Given the description of an element on the screen output the (x, y) to click on. 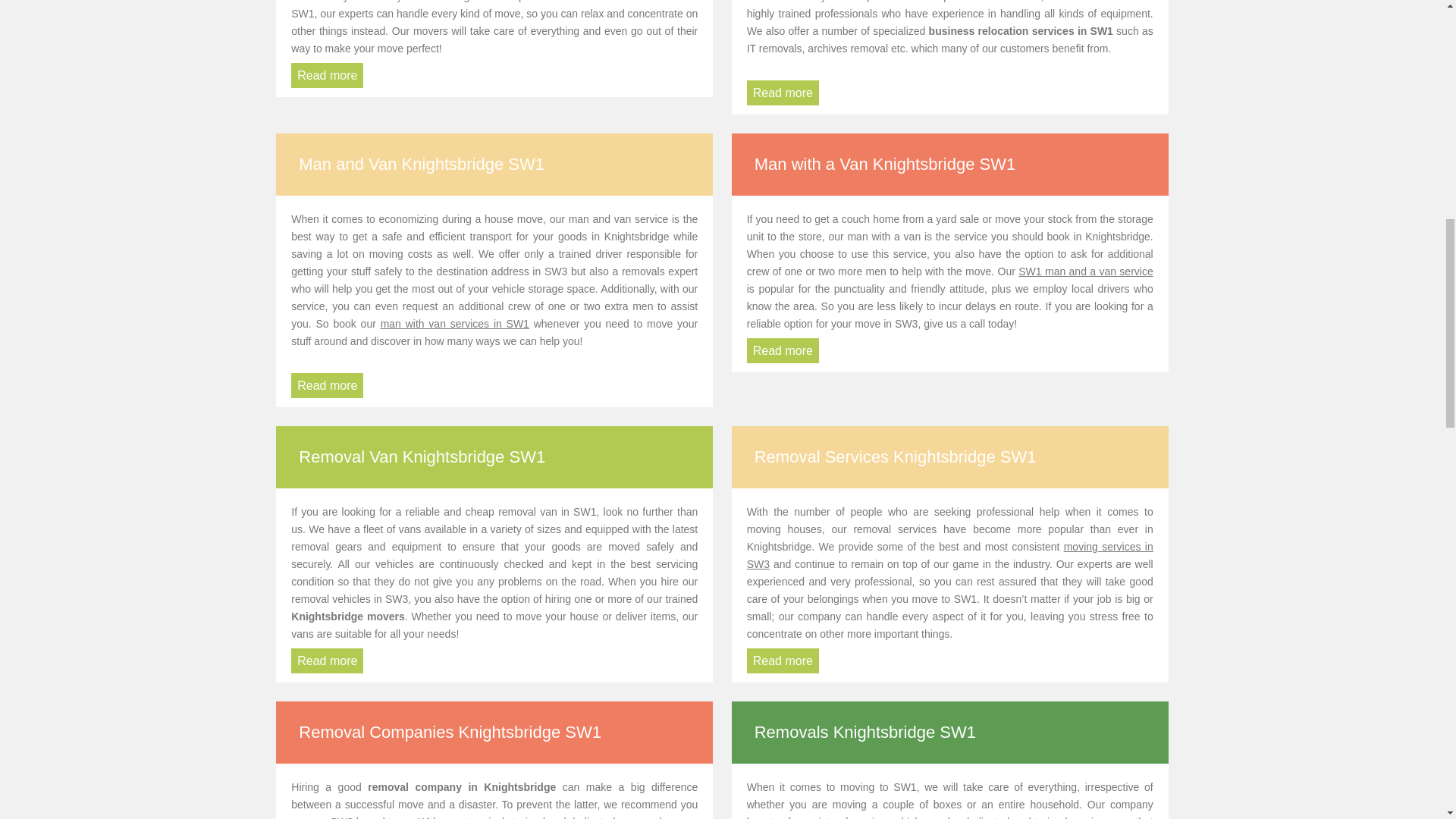
Read more (326, 385)
Read more (808, 350)
Read more (782, 92)
Read more (326, 75)
Read more (782, 660)
